Given the description of an element on the screen output the (x, y) to click on. 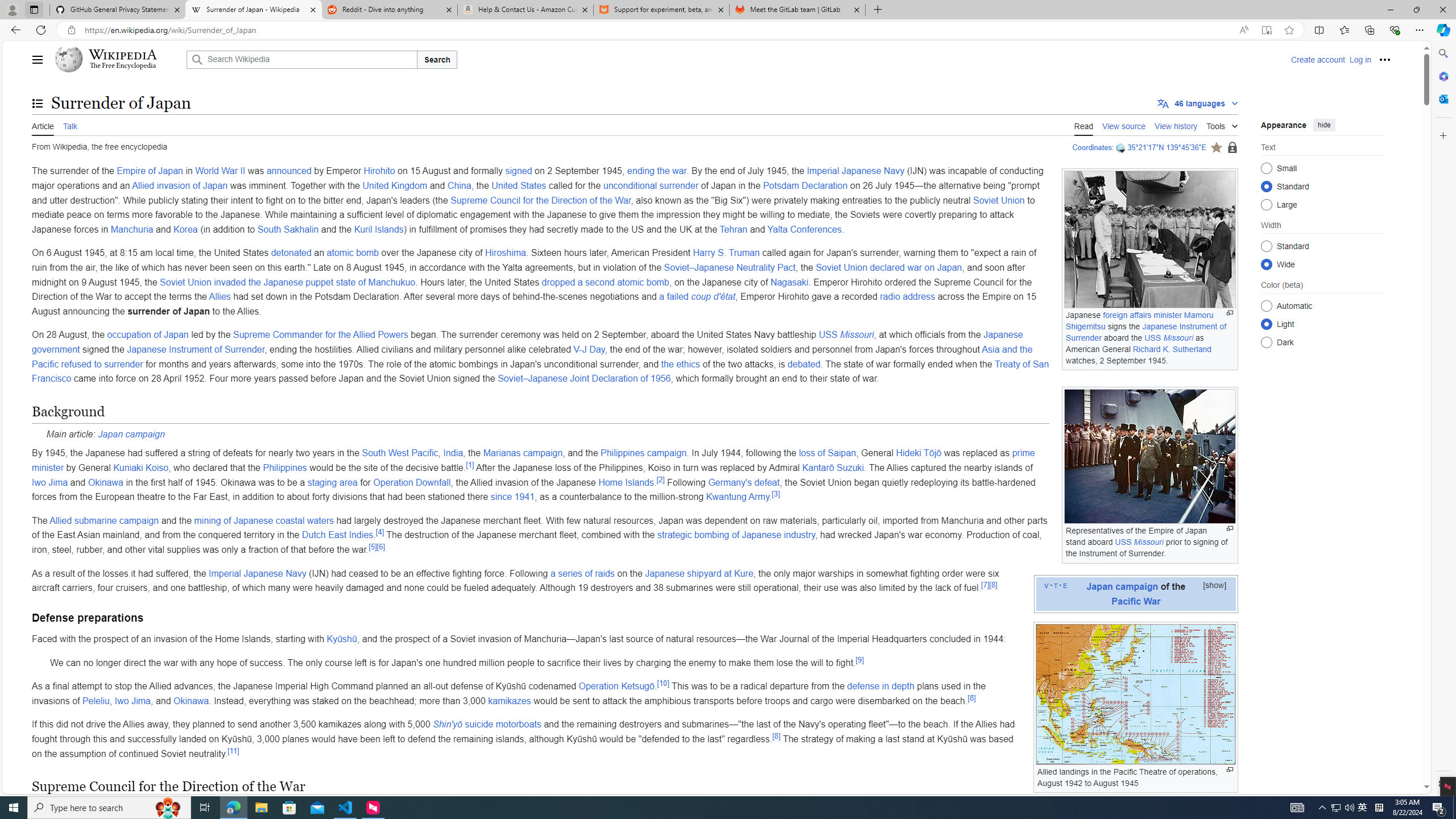
Wide (1266, 263)
Log in (1360, 58)
Empire of Japan (149, 171)
Article (42, 124)
Meet the GitLab team | GitLab (797, 9)
United States (519, 185)
Okinawa (191, 700)
V-J Day (589, 348)
